Given the description of an element on the screen output the (x, y) to click on. 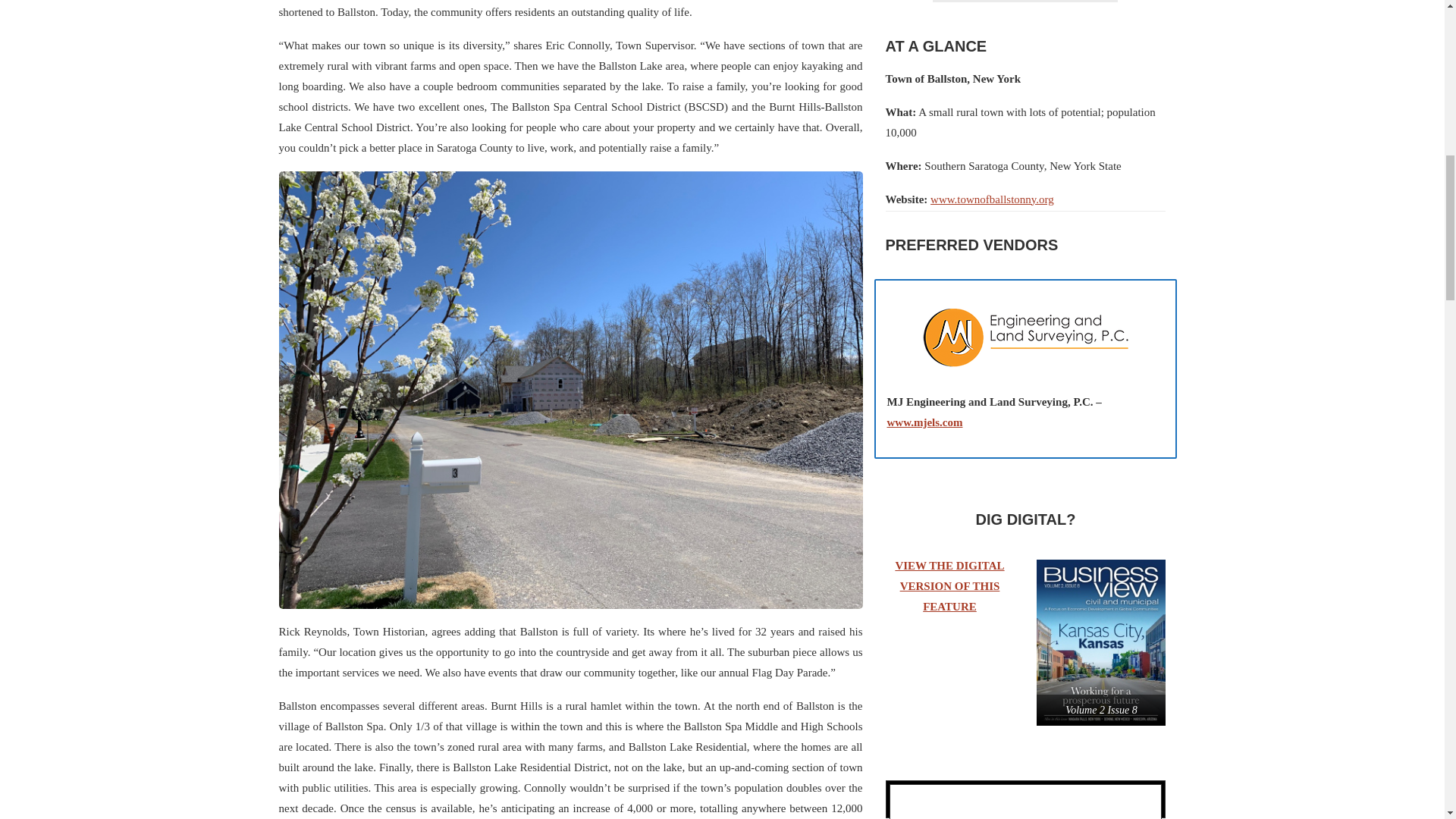
VIEW THE DIGITAL VERSION OF THIS FEATURE (949, 585)
LATEST ISSUE (955, 802)
www.mjels.com (924, 422)
www.townofballstonny.org (992, 199)
